Given the description of an element on the screen output the (x, y) to click on. 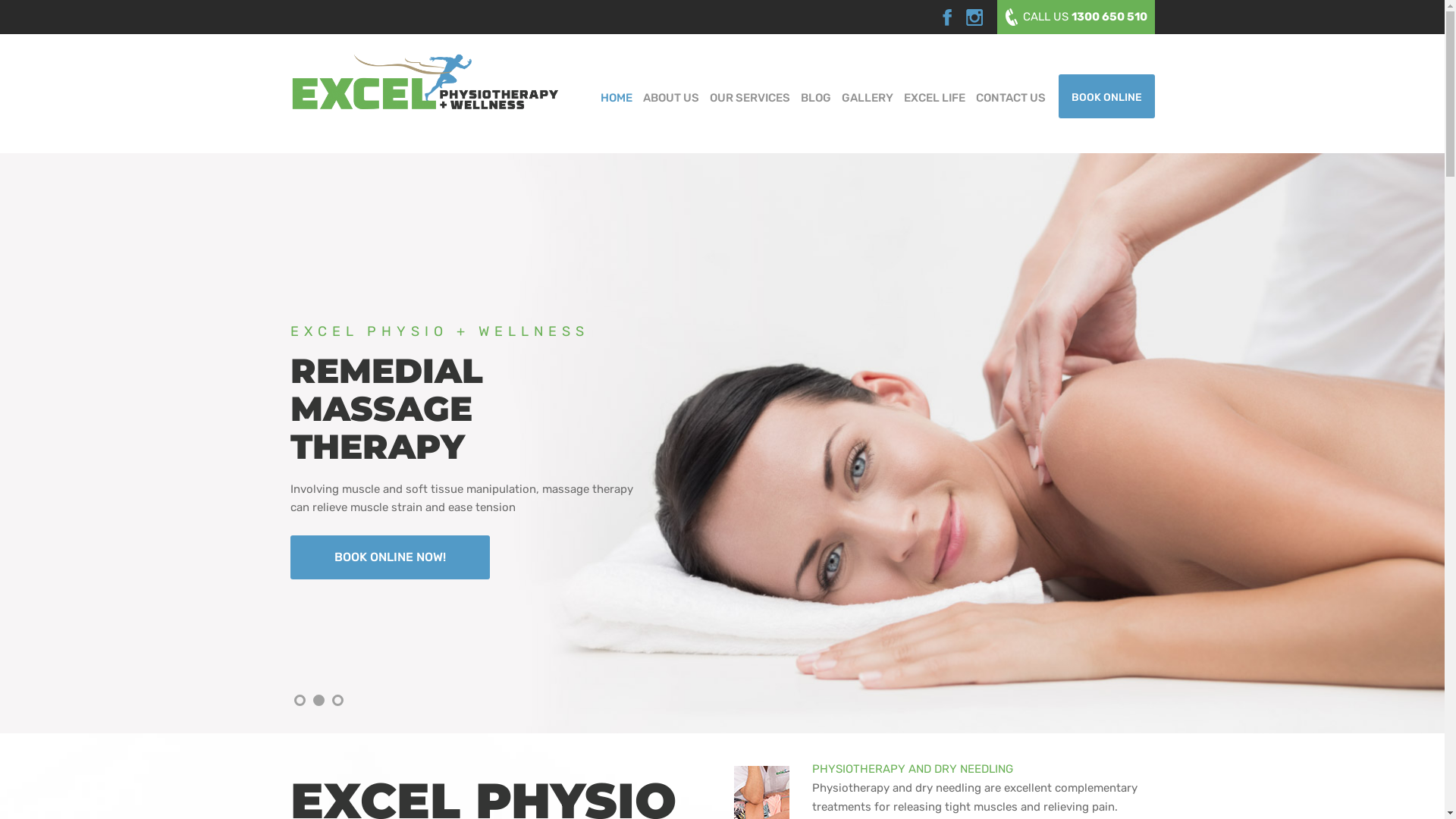
BOOK ONLINE Element type: text (1106, 96)
BOOK ONLINE NOW! Element type: text (389, 481)
OUR SERVICES Element type: text (748, 96)
CONTACT US Element type: text (1010, 96)
CALL US 1300 650 510 Element type: text (1075, 17)
BLOG Element type: text (814, 96)
ABOUT US Element type: text (670, 96)
GALLERY Element type: text (866, 96)
HOME Element type: text (615, 96)
PHYSIOTHERAPY AND DRY NEEDLING Element type: text (944, 776)
EXCEL LIFE Element type: text (933, 96)
